Given the description of an element on the screen output the (x, y) to click on. 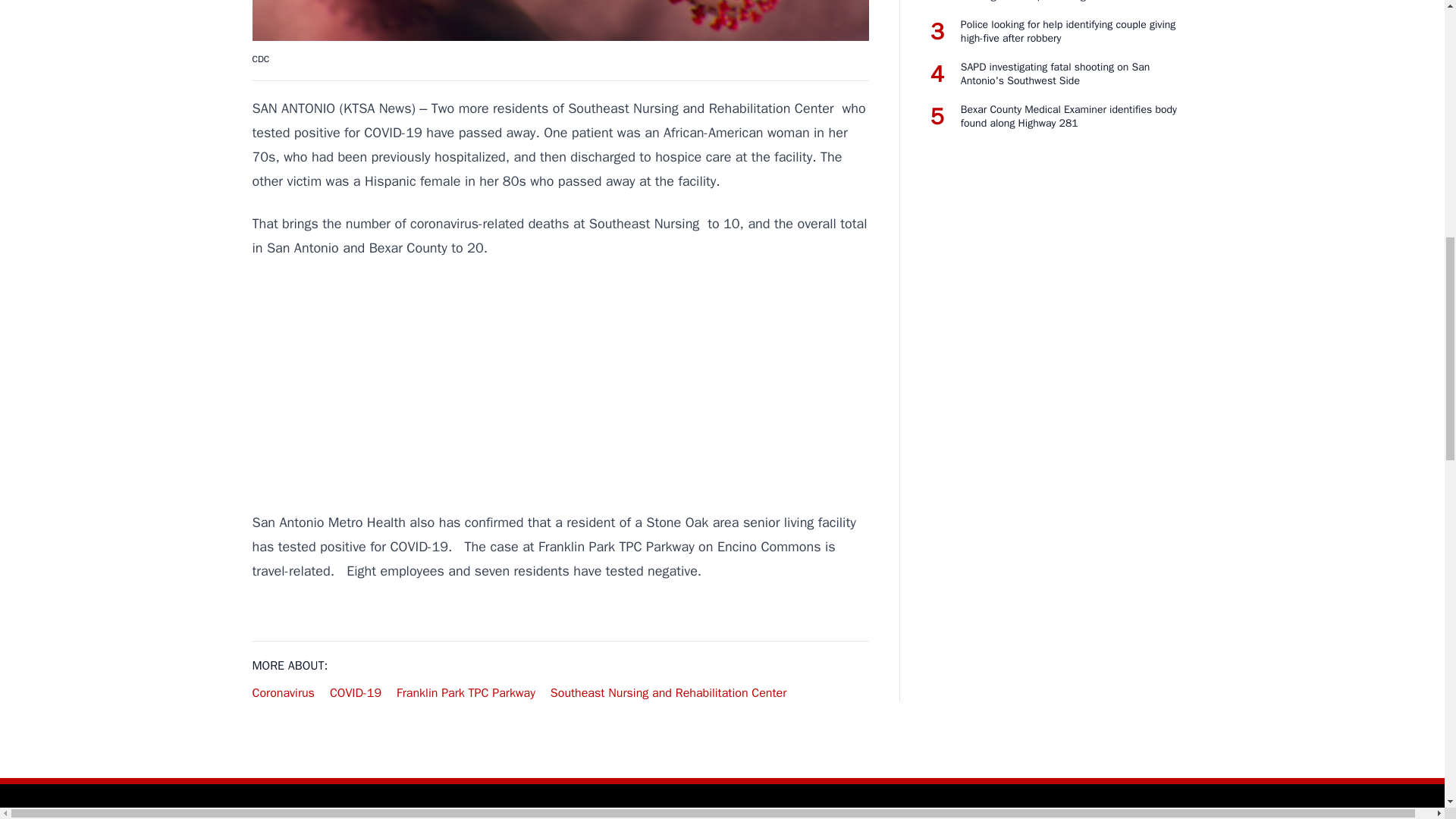
3rd party ad content (560, 384)
